Given the description of an element on the screen output the (x, y) to click on. 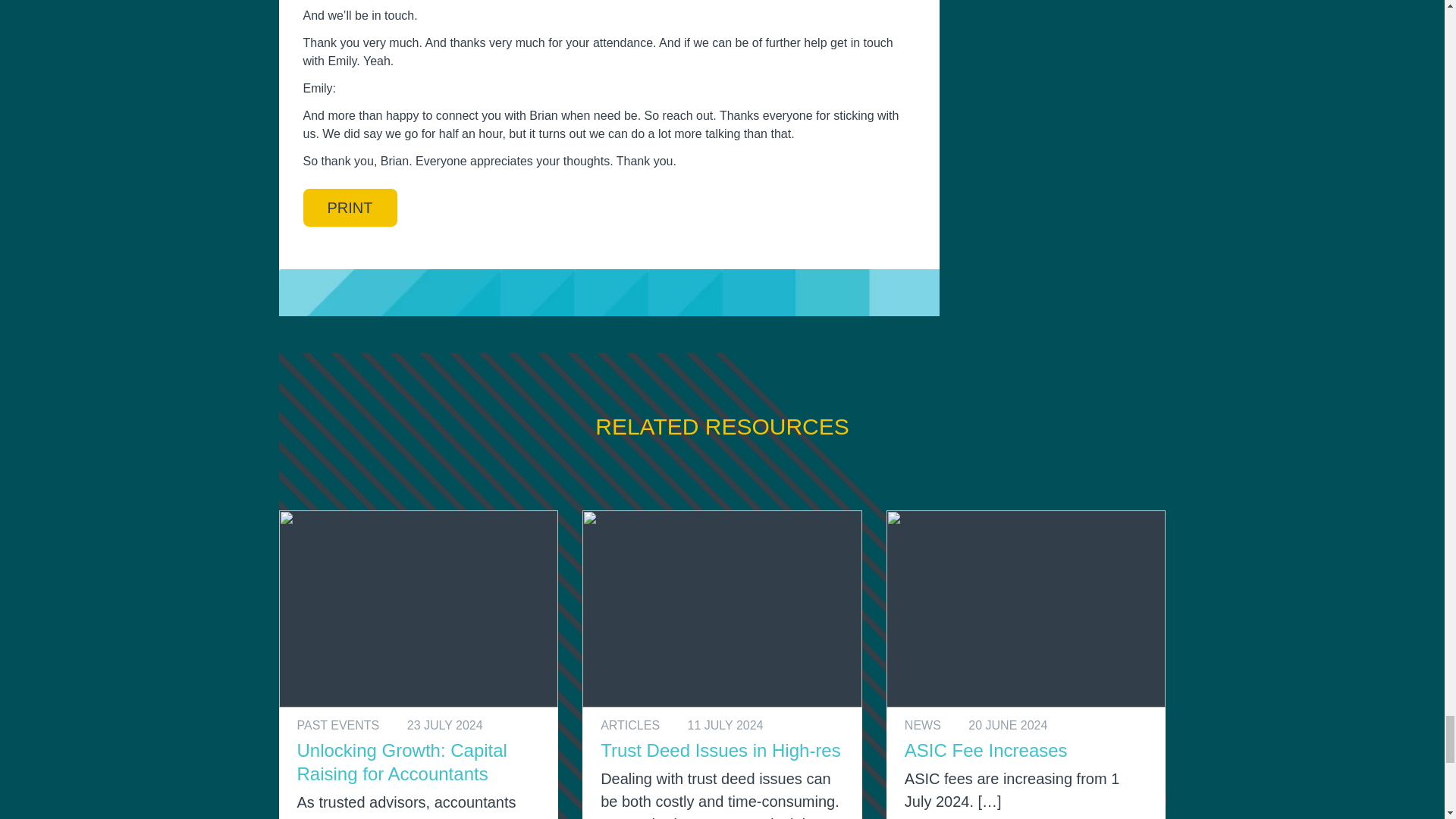
PRINT (349, 207)
